Given the description of an element on the screen output the (x, y) to click on. 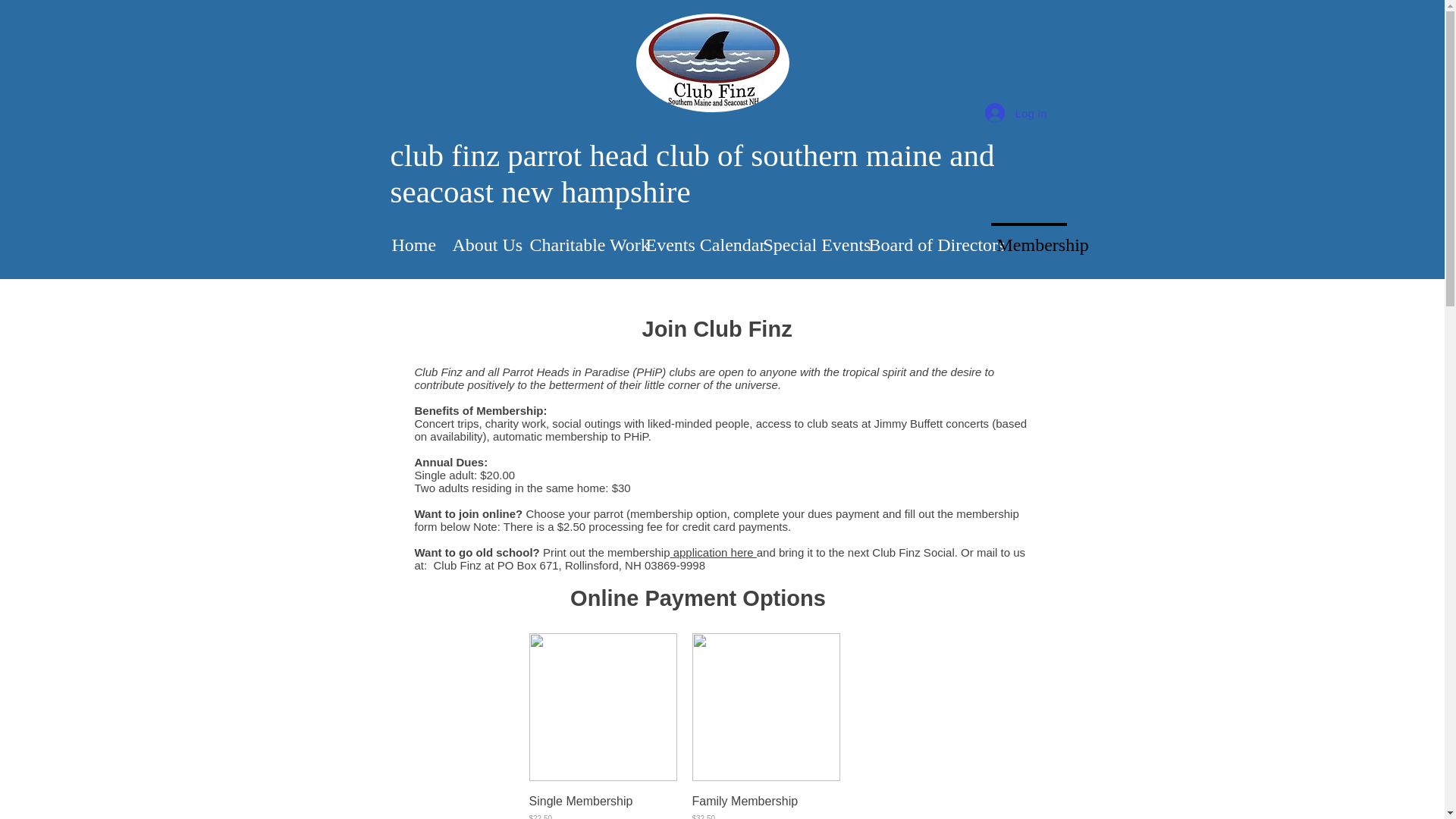
application here (713, 552)
Log In (1016, 112)
About Us (476, 237)
Home (407, 237)
Membership (1028, 237)
Charitable Work (573, 237)
Board of Directors (920, 237)
Events Calendar (690, 237)
Special Events (801, 237)
